Given the description of an element on the screen output the (x, y) to click on. 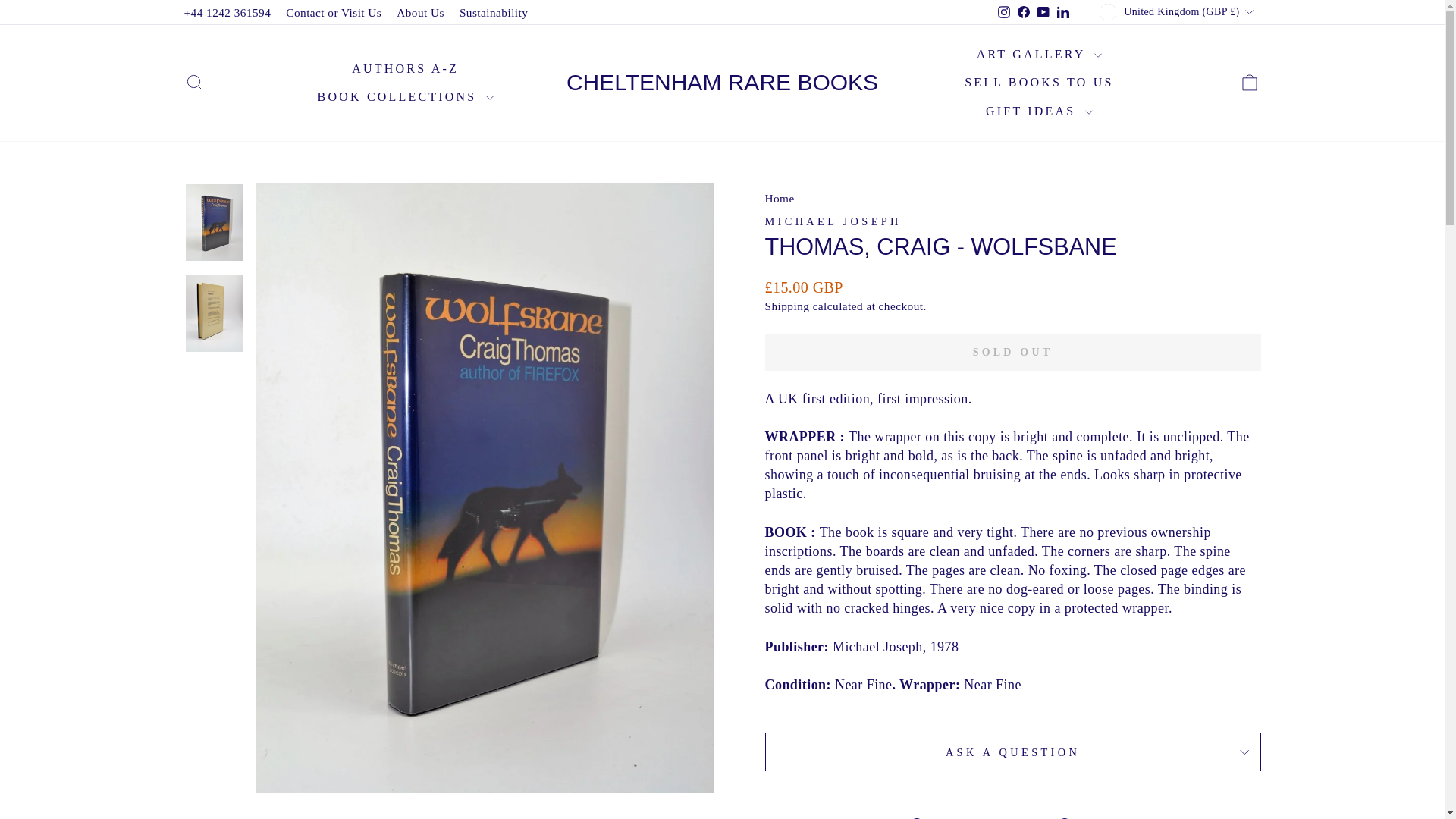
ICON-BAG-MINIMAL (1249, 82)
ICON-SEARCH (194, 82)
Pin on Pinterest (1086, 816)
Tweet on Twitter (1012, 816)
Michael Joseph (832, 221)
Back to the frontpage (778, 197)
Share on Facebook (939, 816)
instagram (1003, 11)
